Given the description of an element on the screen output the (x, y) to click on. 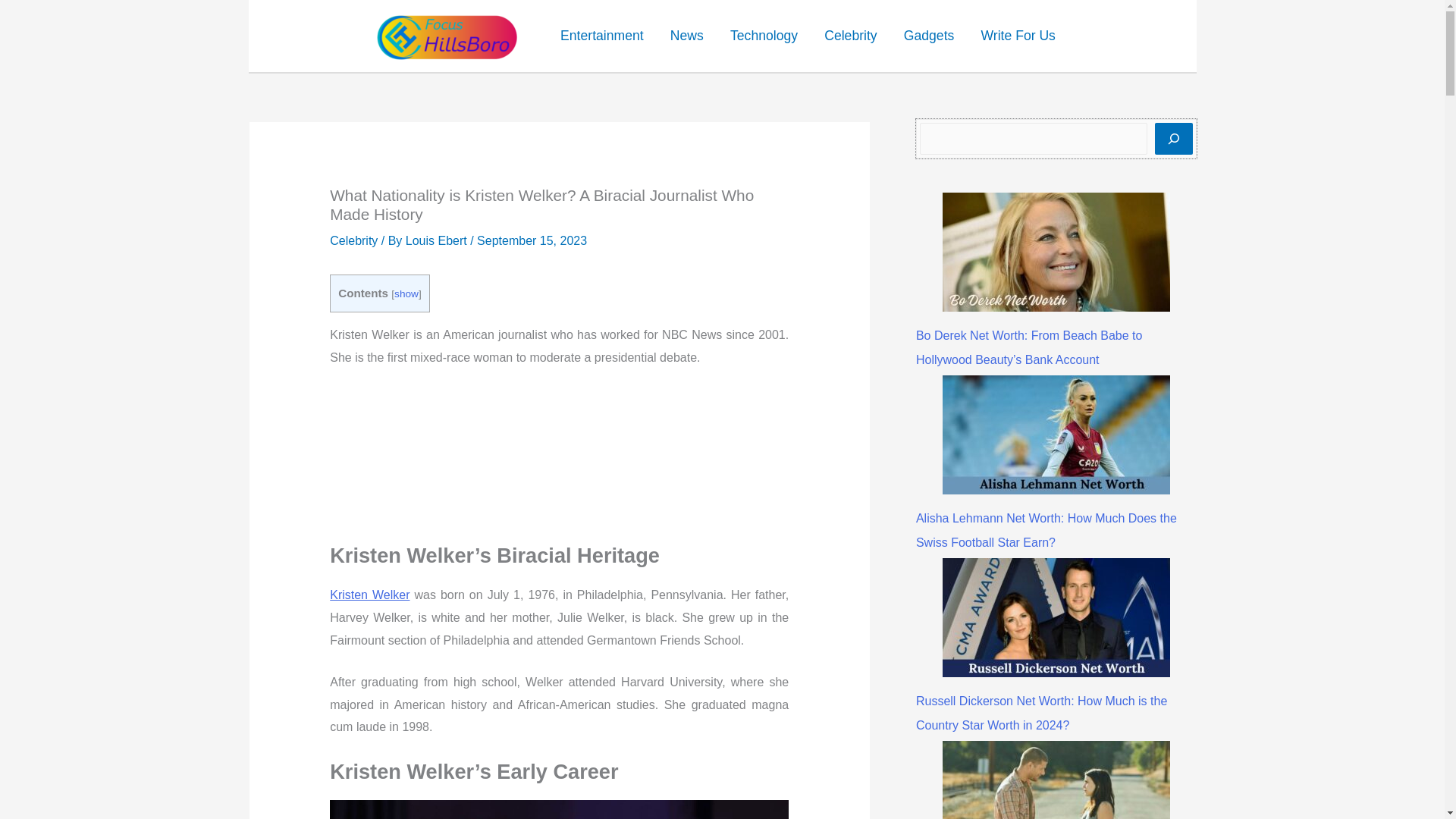
View all posts by Louis Ebert (438, 240)
News (686, 35)
Write For Us (1018, 35)
Entertainment (601, 35)
Louis Ebert (438, 240)
show (406, 293)
Technology (763, 35)
Kristen Welker (369, 594)
Celebrity (850, 35)
Celebrity (353, 240)
